Given the description of an element on the screen output the (x, y) to click on. 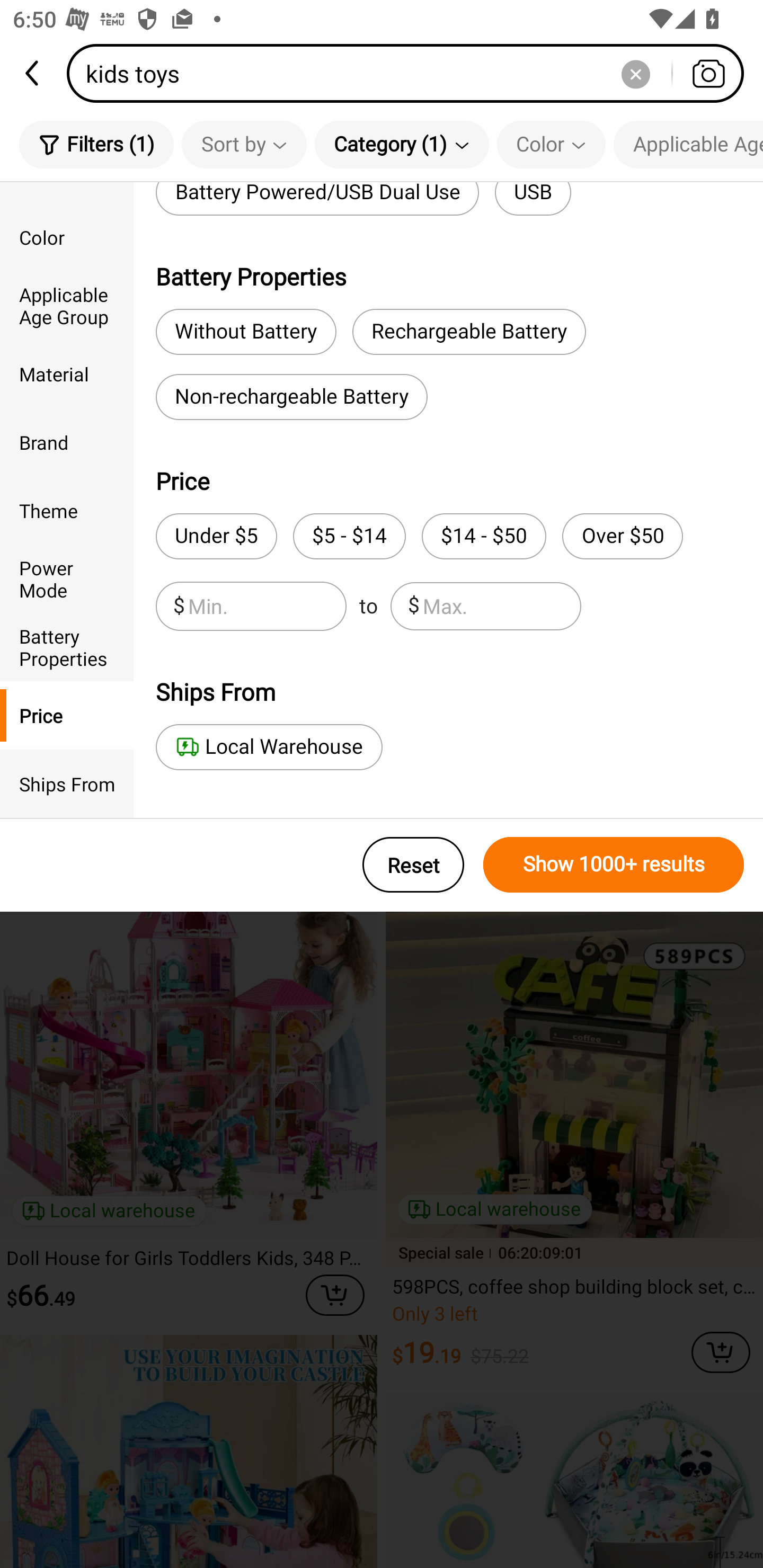
back (33, 72)
kids toys (411, 73)
Delete search history (635, 73)
Search by photo (708, 73)
Filters (1) (96, 143)
Sort by (243, 143)
Category (1) (401, 143)
Color (550, 143)
Applicable Age Group (688, 143)
Battery Powered/USB Dual Use (317, 198)
USB (533, 198)
Color (66, 236)
Applicable Age Group (66, 305)
Without Battery (245, 331)
Rechargeable Battery (468, 331)
Material (66, 373)
Non-rechargeable Battery (291, 397)
Brand (66, 441)
Theme (66, 510)
Under $5 (215, 535)
$5 - $14 (348, 535)
$14 - $50 (483, 535)
Over $50 (622, 535)
Power Mode (66, 578)
$ Min. to $ Max. (368, 605)
Battery Properties (66, 646)
Price (66, 714)
Local Warehouse (268, 746)
Ships From (66, 783)
Reset (412, 864)
Show 1000+ results (612, 864)
